Given the description of an element on the screen output the (x, y) to click on. 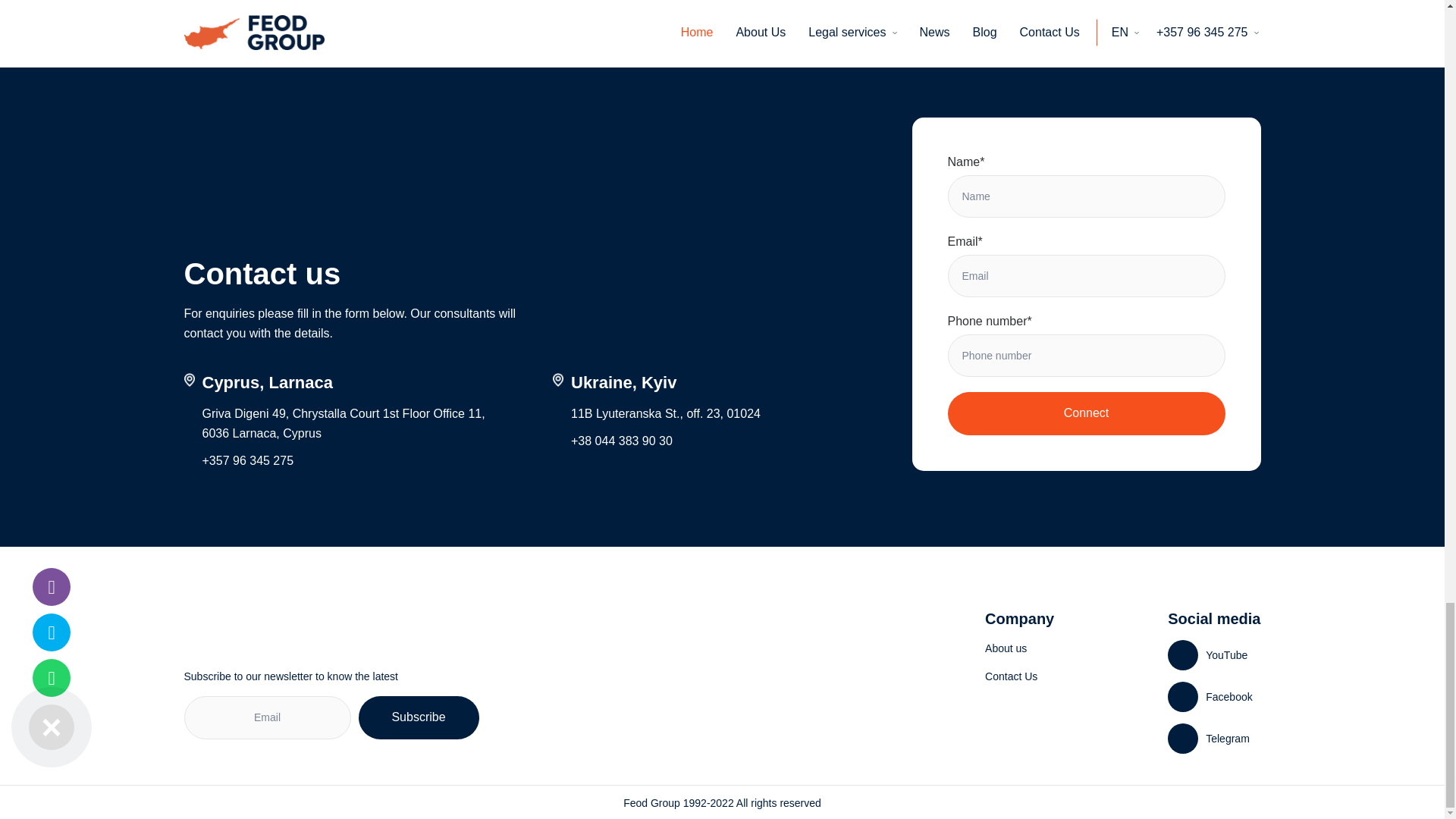
Connect (1086, 413)
Subscribe (418, 717)
